Given the description of an element on the screen output the (x, y) to click on. 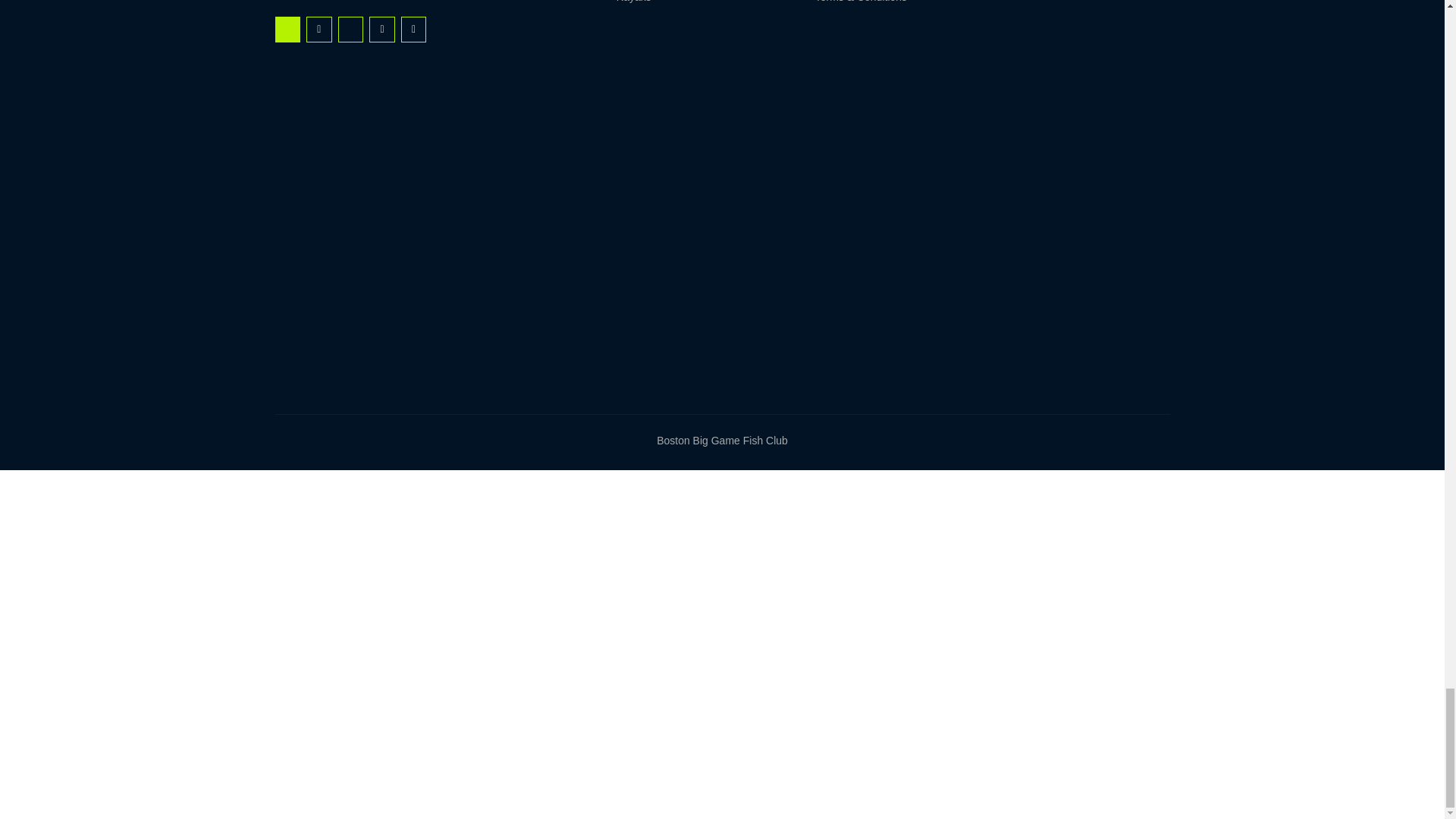
Tumblr (381, 29)
Jki-youtube-v-light (350, 29)
Kayaks (682, 4)
Wordpress (413, 29)
Rss (318, 29)
Jki-facebook-light (287, 29)
